Given the description of an element on the screen output the (x, y) to click on. 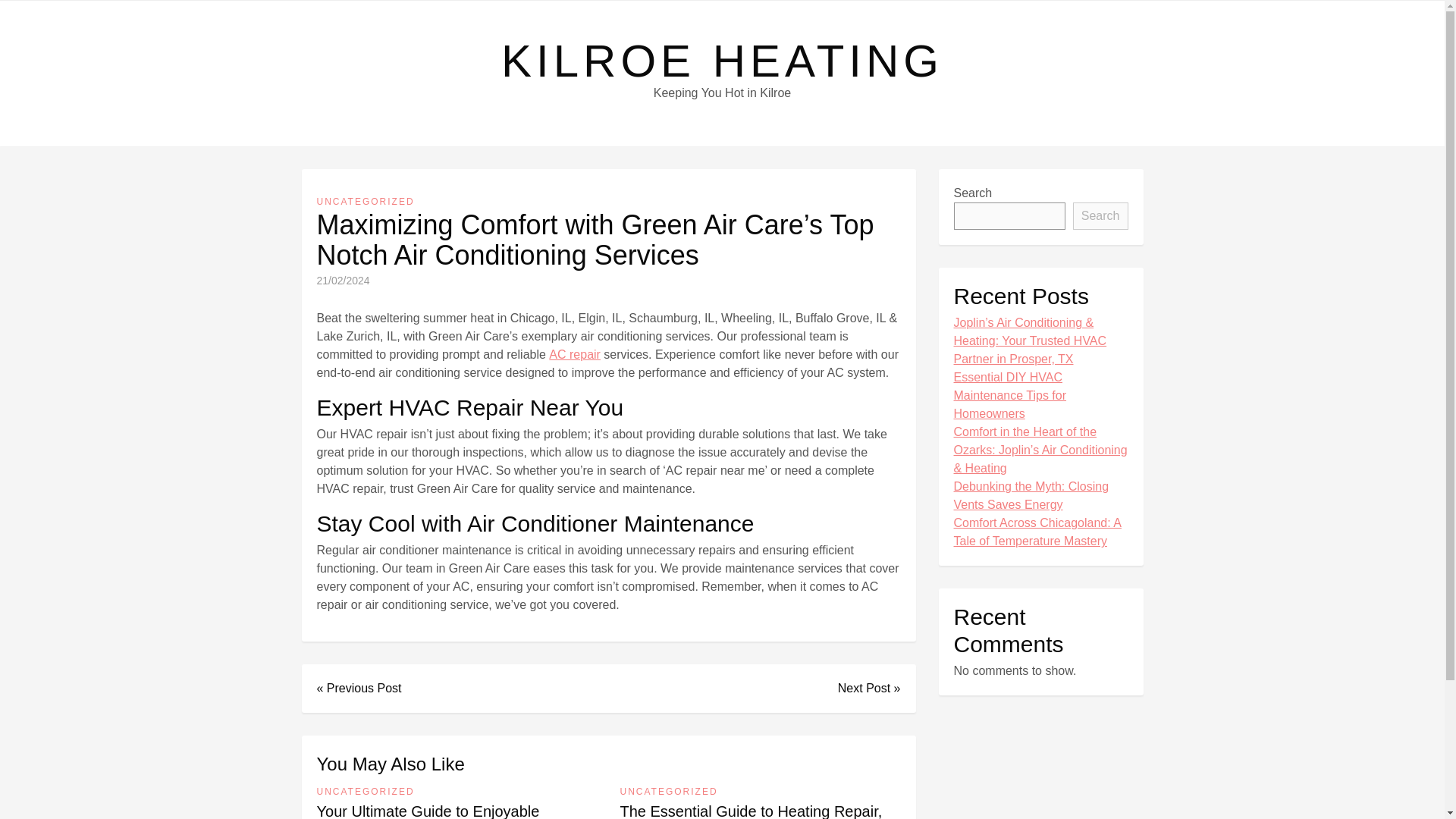
Essential DIY HVAC Maintenance Tips for Homeowners (1040, 395)
Search (1100, 216)
AC repair (573, 354)
UNCATEGORIZED (668, 791)
Comfort Across Chicagoland: A Tale of Temperature Mastery (1040, 532)
UNCATEGORIZED (365, 791)
Debunking the Myth: Closing Vents Saves Energy (1040, 495)
KILROE HEATING (721, 61)
UNCATEGORIZED (365, 201)
